Given the description of an element on the screen output the (x, y) to click on. 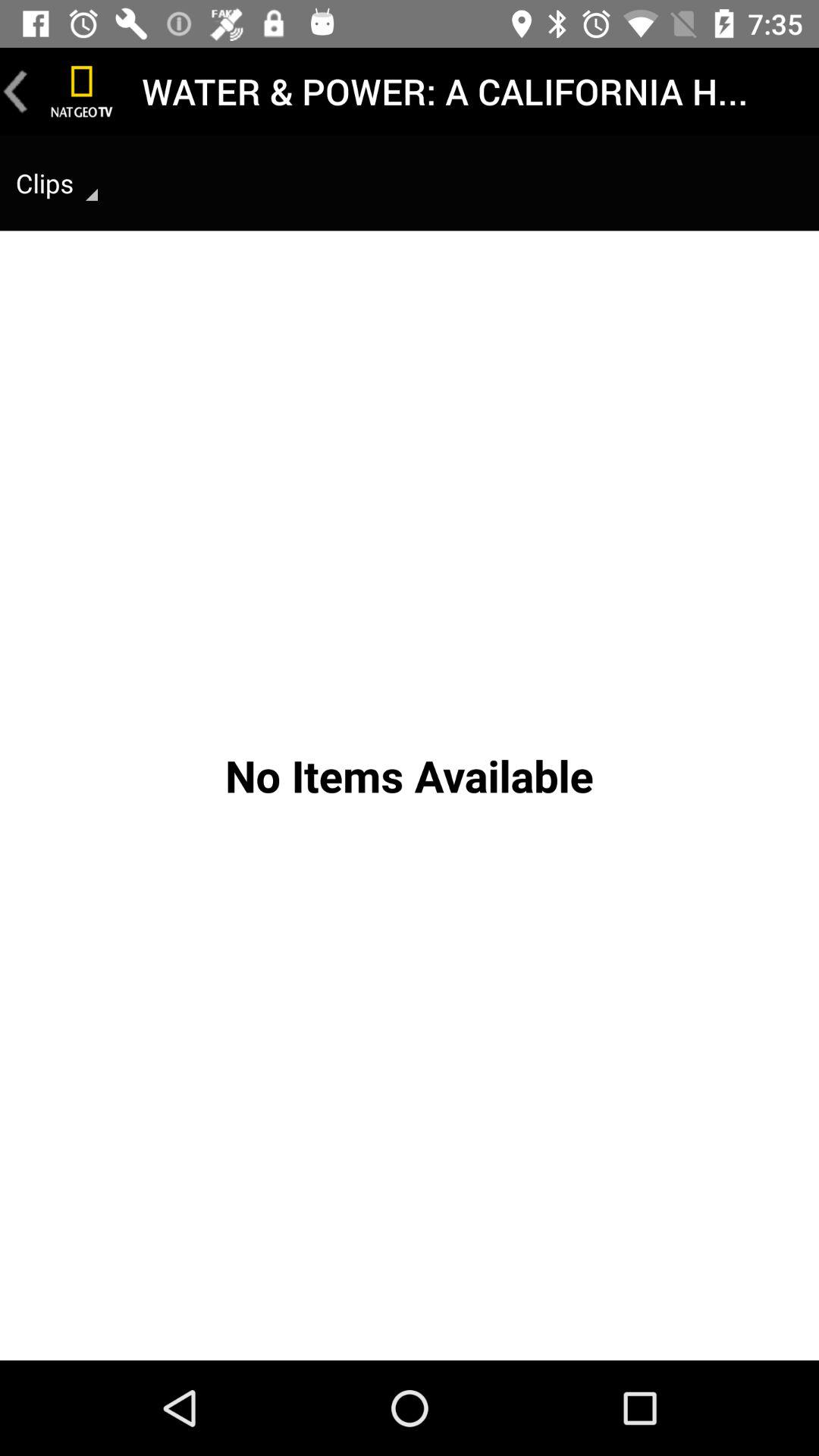
go back (15, 91)
